Given the description of an element on the screen output the (x, y) to click on. 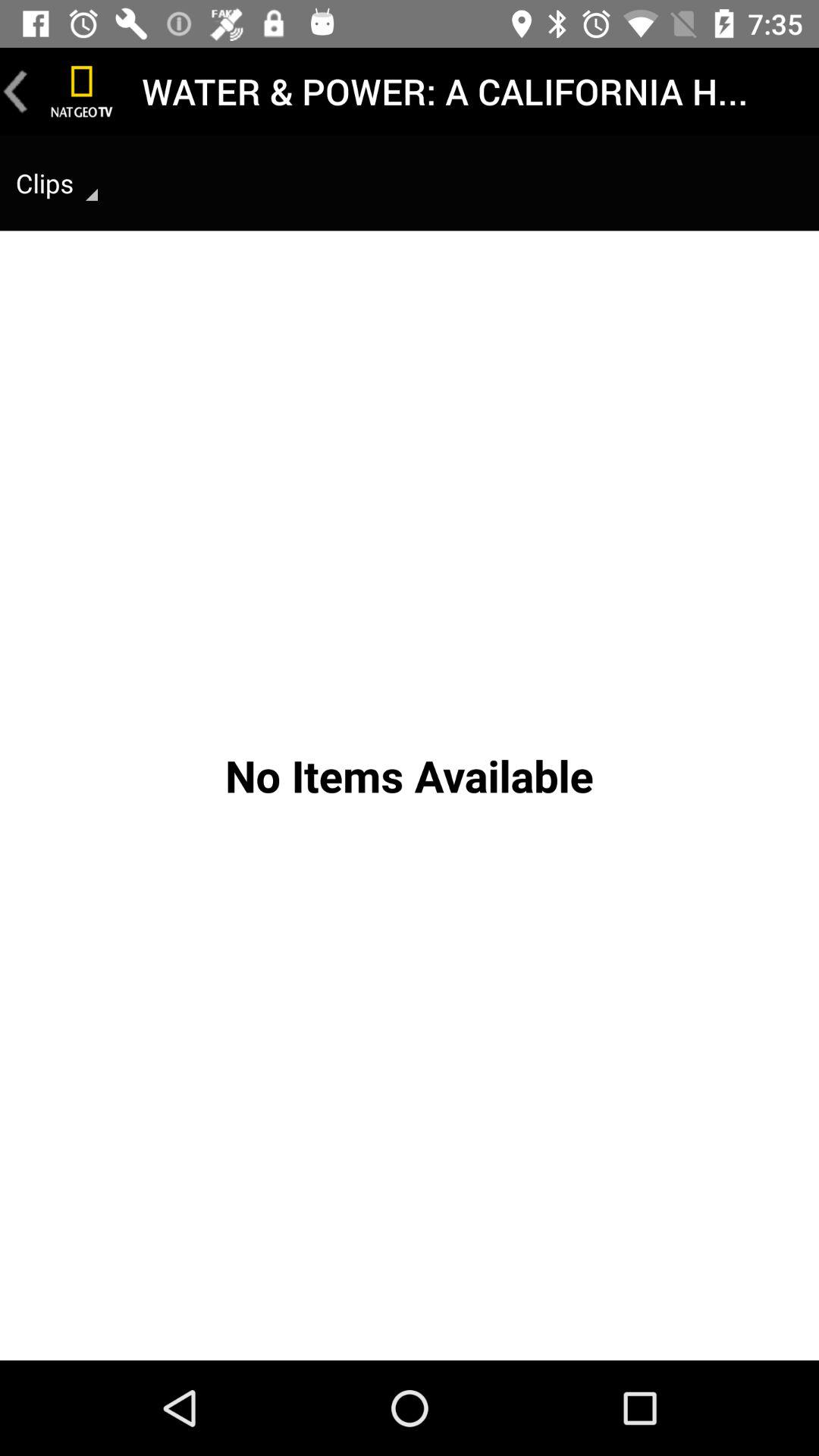
go back (15, 91)
